Given the description of an element on the screen output the (x, y) to click on. 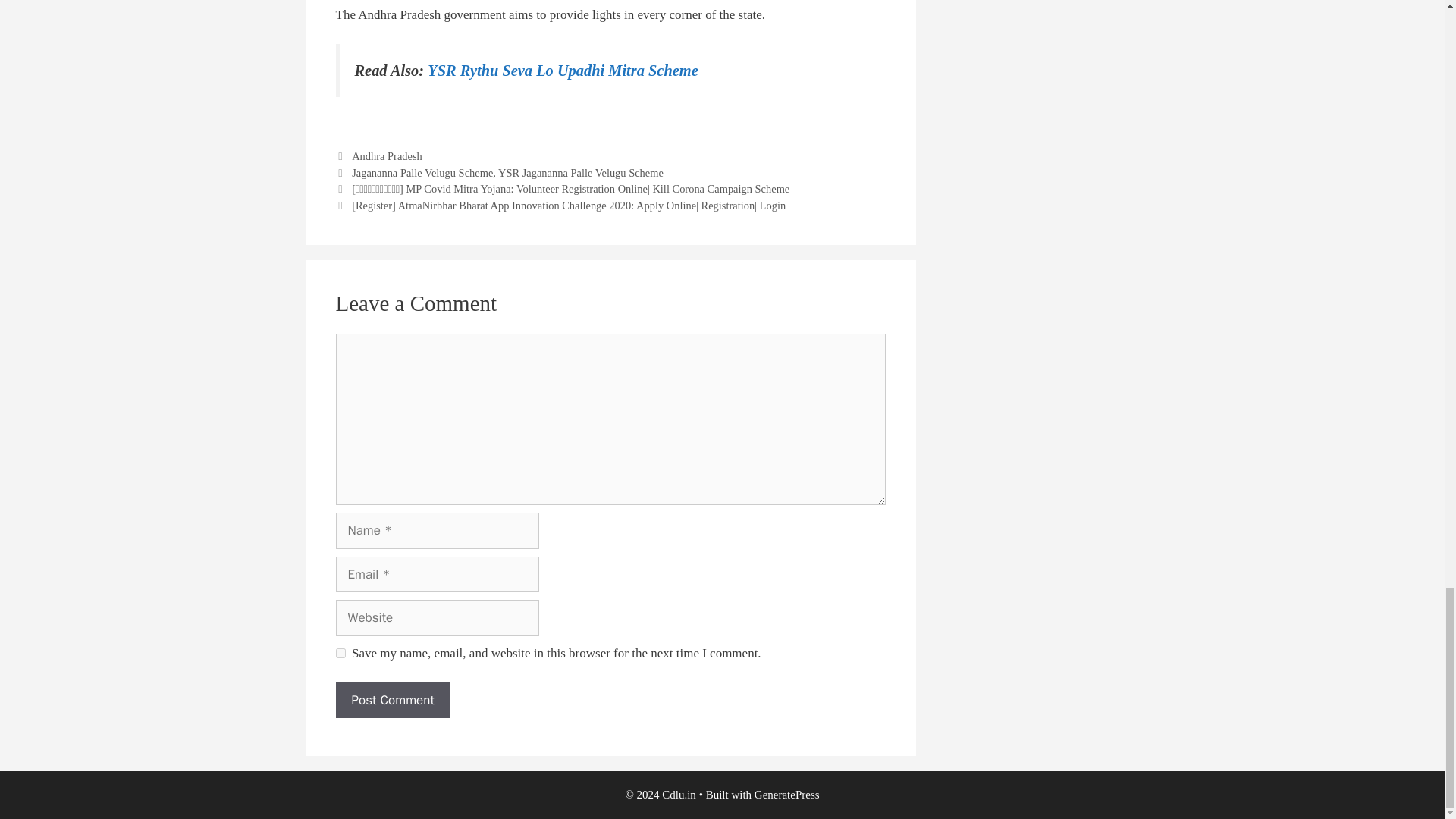
Jagananna Palle Velugu Scheme (422, 173)
yes (339, 653)
Andhra Pradesh (387, 155)
Post Comment (391, 700)
Post Comment (391, 700)
YSR Jagananna Palle Velugu Scheme (580, 173)
YSR Rythu Seva Lo Upadhi Mitra Scheme (563, 70)
